Given the description of an element on the screen output the (x, y) to click on. 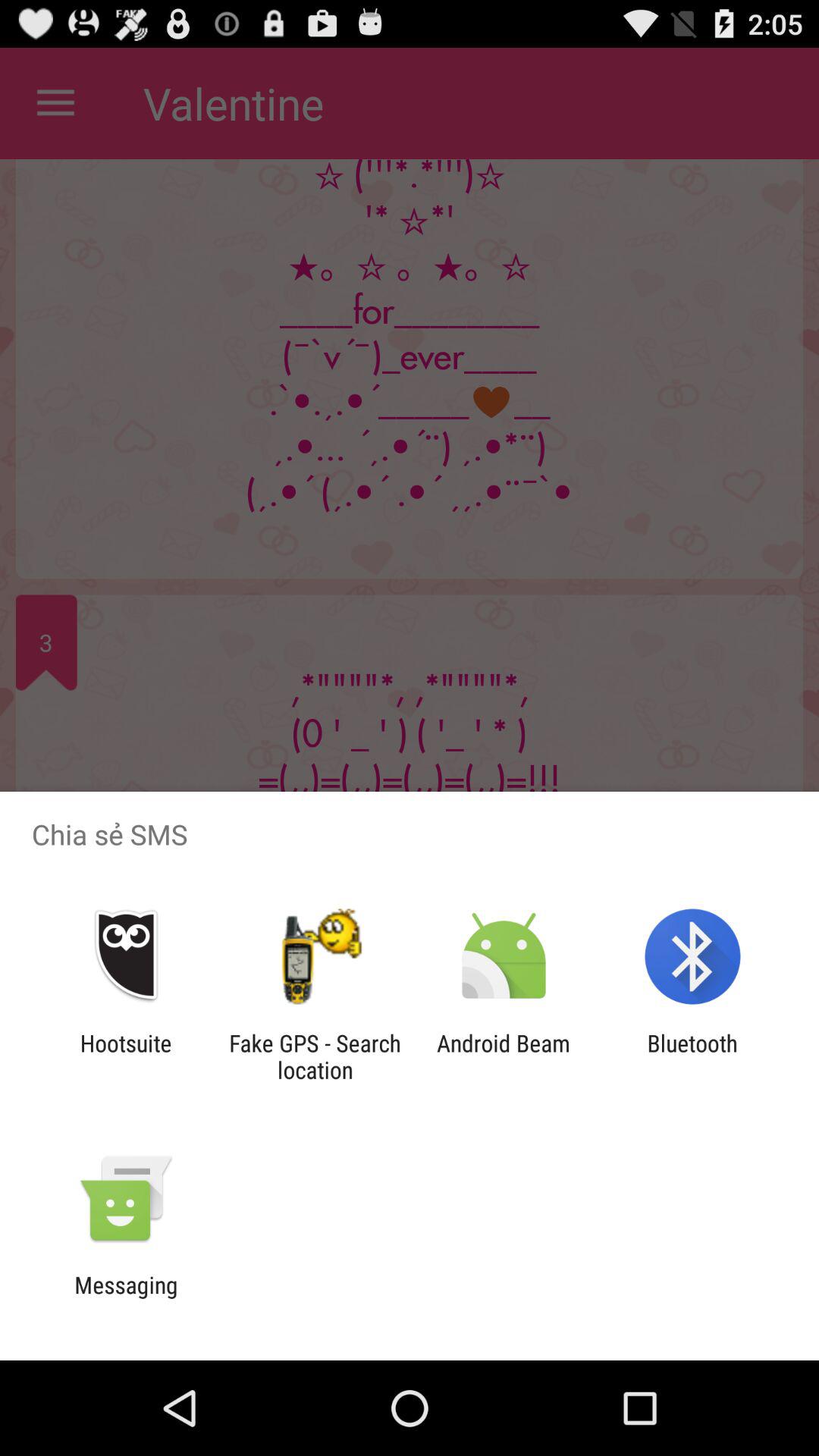
launch item next to fake gps search app (125, 1056)
